Given the description of an element on the screen output the (x, y) to click on. 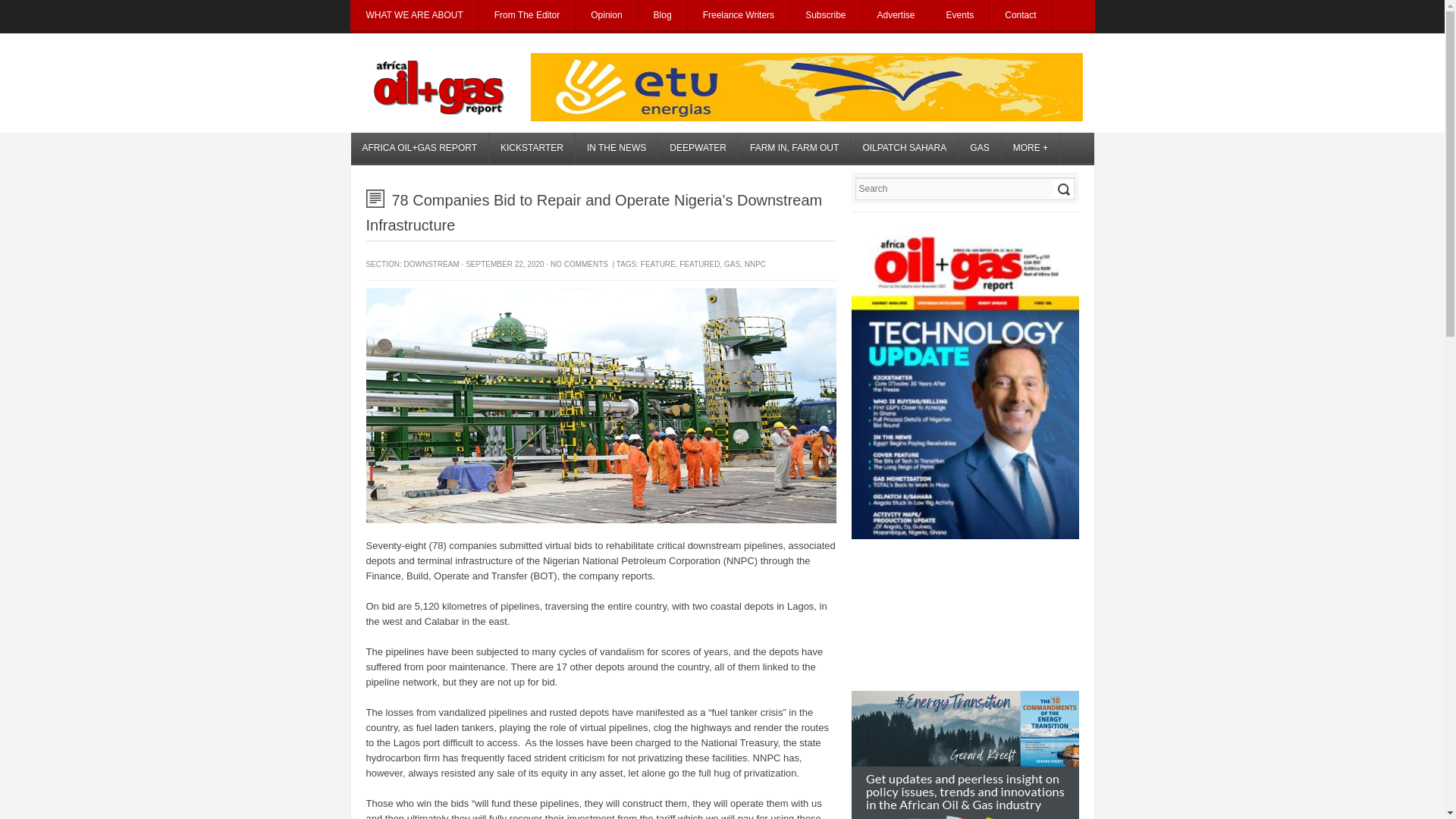
NO COMMENTS (579, 264)
OILPATCH SAHARA (904, 147)
Search (1061, 188)
KICKSTARTER (532, 147)
Opinion (606, 15)
Events (960, 15)
DOWNSTREAM (432, 264)
Contact (1020, 15)
Blog (663, 15)
DEEPWATER (698, 147)
Advertise (895, 15)
FARM IN, FARM OUT (794, 147)
WHAT WE ARE ABOUT (413, 15)
Subscribe (825, 15)
GAS (979, 147)
